Given the description of an element on the screen output the (x, y) to click on. 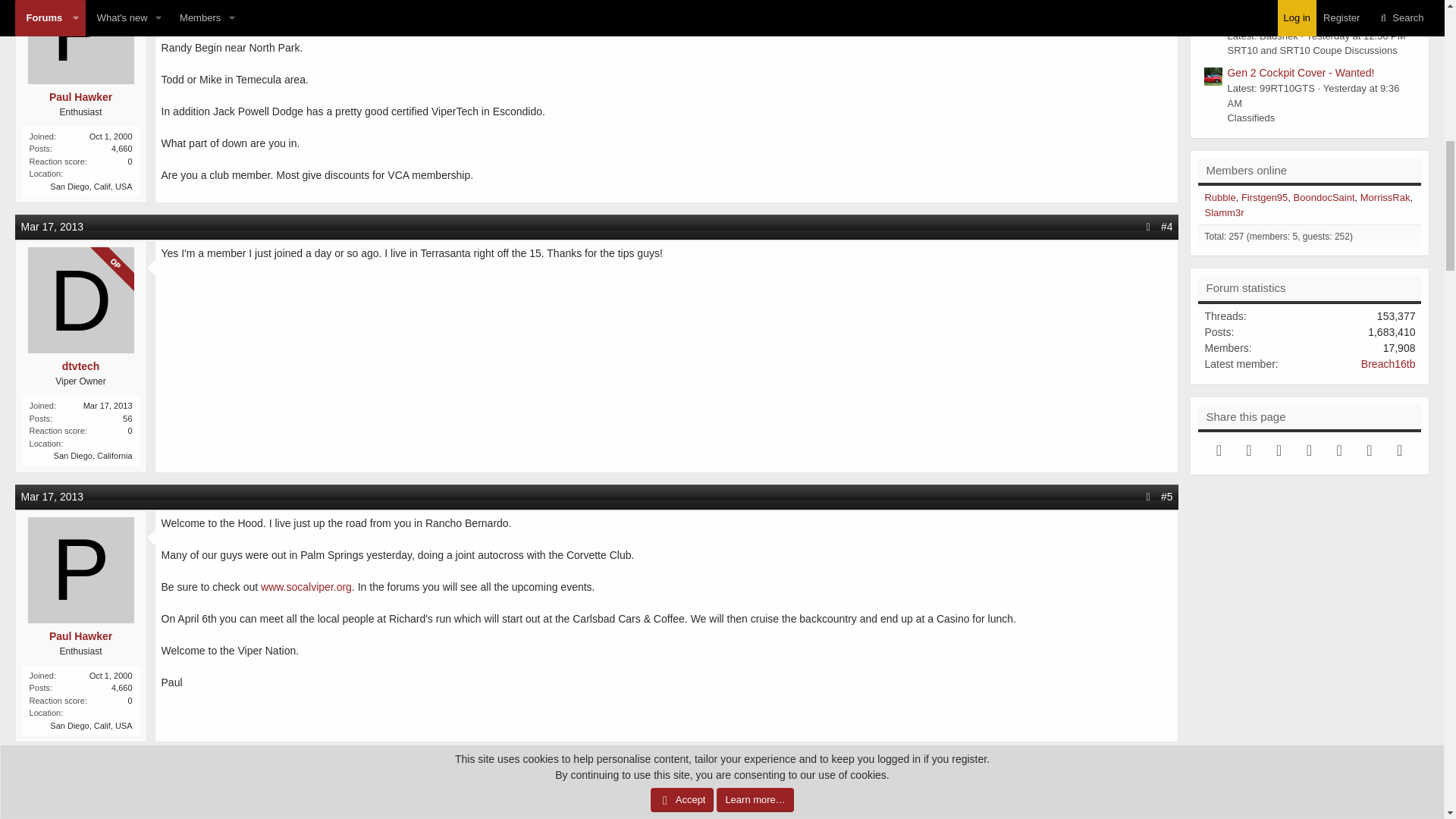
Mar 17, 2013 at 10:30 PM (52, 226)
Mar 17, 2013 at 11:12 PM (52, 496)
Mar 17, 2013 at 11:18 PM (52, 766)
